Given the description of an element on the screen output the (x, y) to click on. 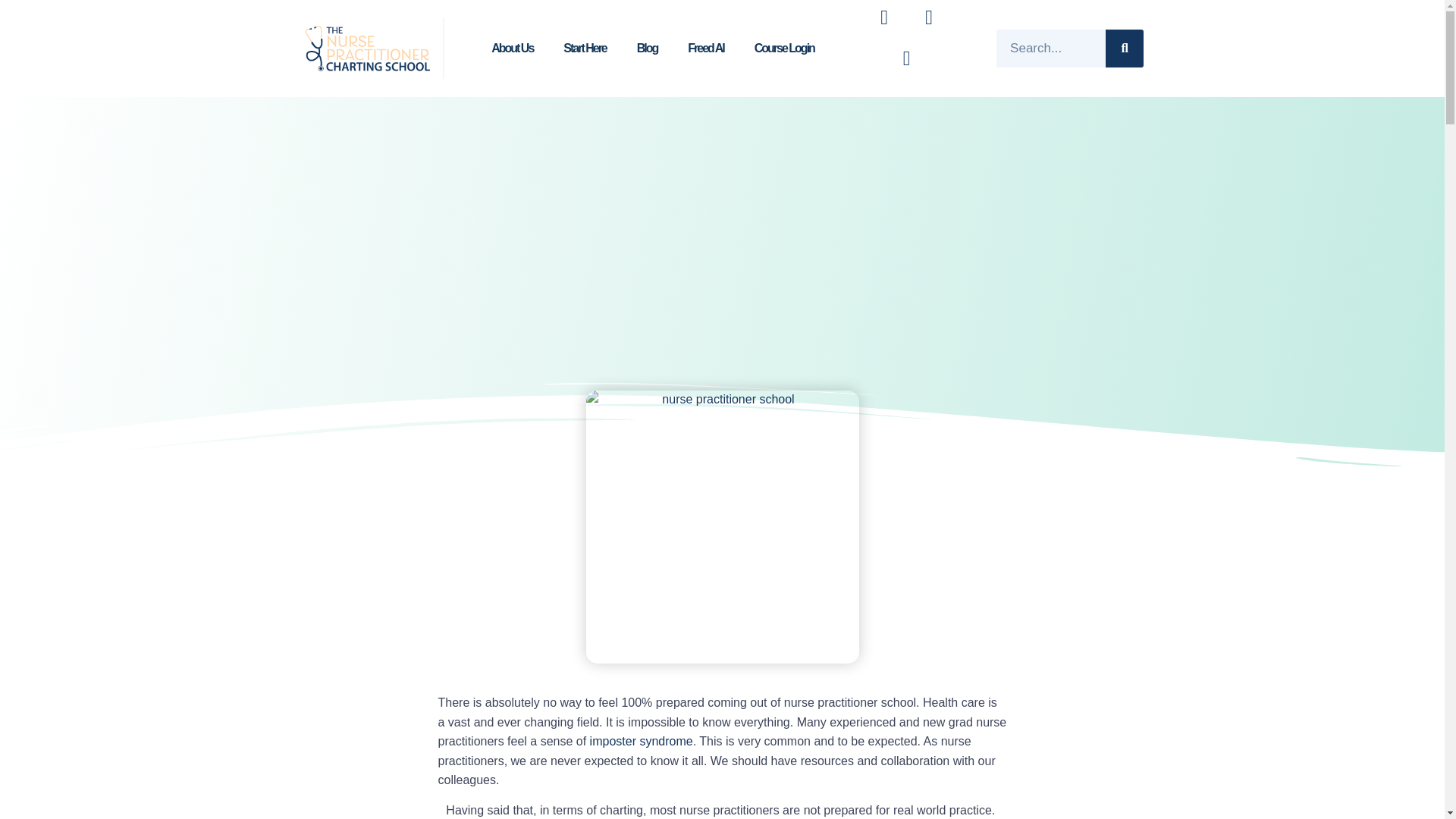
Course Login (784, 48)
Freed AI (705, 48)
About Us (512, 48)
Blog (646, 48)
Start Here (584, 48)
